Given the description of an element on the screen output the (x, y) to click on. 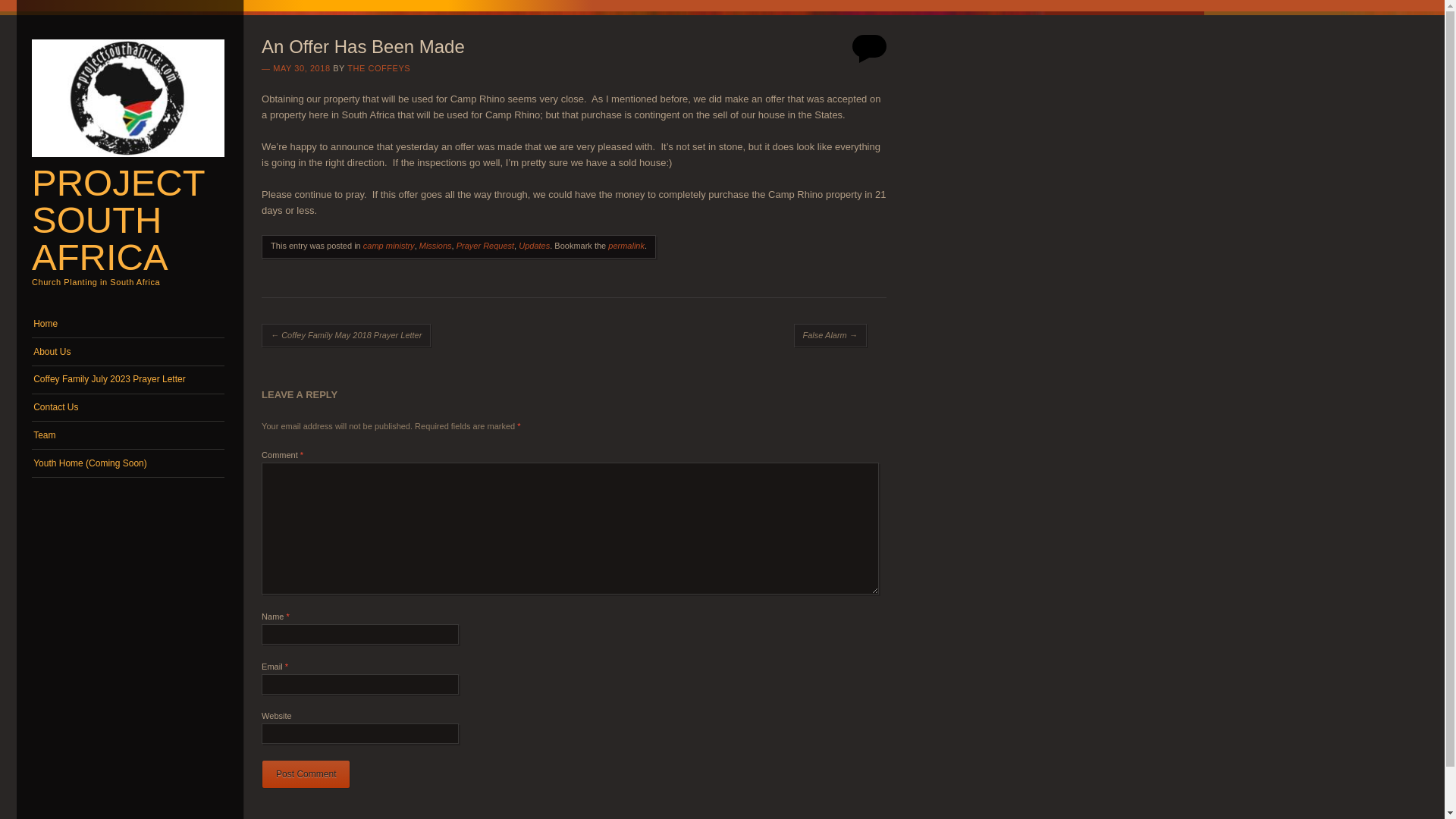
camp ministry (388, 245)
Post Comment (306, 774)
Permalink to An Offer Has Been Made (626, 245)
About Us (128, 351)
Post Comment (306, 774)
View all posts by The Coffeys (378, 67)
Updates (534, 245)
Team (128, 434)
PROJECT SOUTH AFRICA (118, 219)
Skip to content (61, 317)
